Given the description of an element on the screen output the (x, y) to click on. 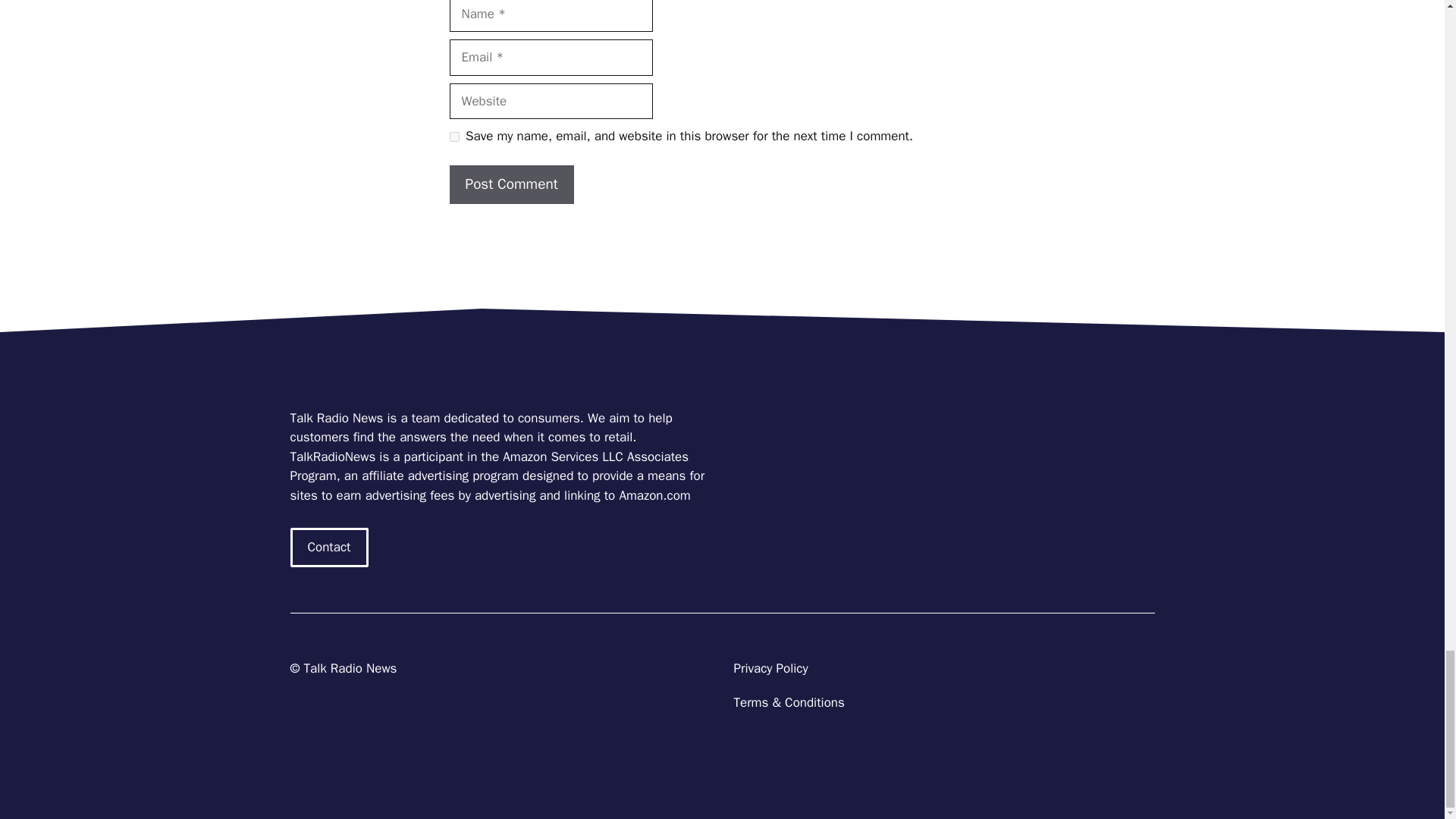
Privacy Policy (770, 668)
Post Comment (510, 184)
yes (453, 136)
Post Comment (510, 184)
Contact (328, 547)
